Given the description of an element on the screen output the (x, y) to click on. 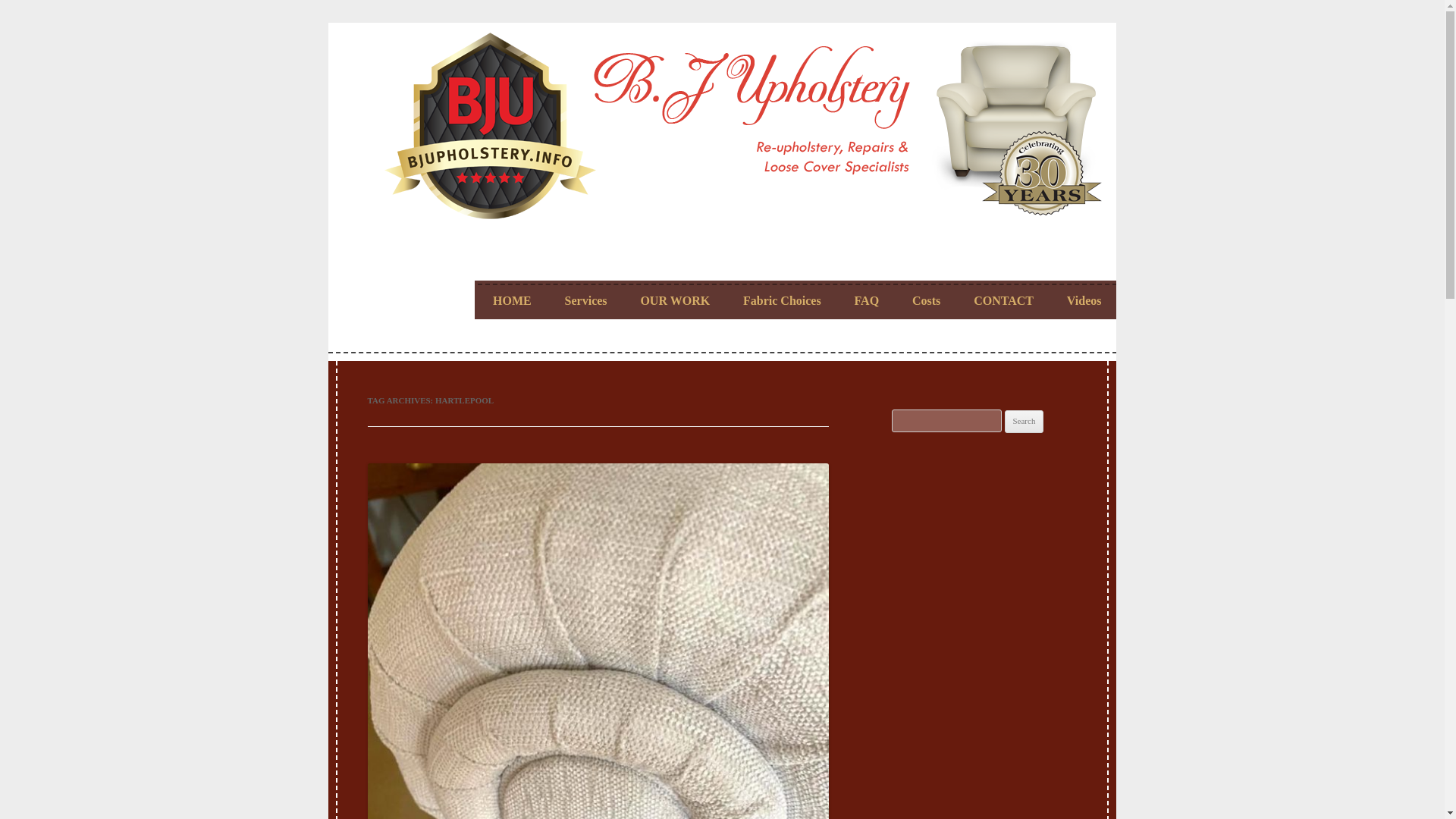
See Fabric Choices (781, 300)
HOME (512, 300)
Search (1023, 421)
Videos (1084, 300)
Fabric Choices (781, 300)
Search (1023, 421)
Services (585, 300)
Contact BJ Upholstery (1003, 300)
OUR WORK (675, 300)
Costs (926, 300)
Skip to content (757, 258)
Skip to content (757, 258)
CONTACT (1003, 300)
